Given the description of an element on the screen output the (x, y) to click on. 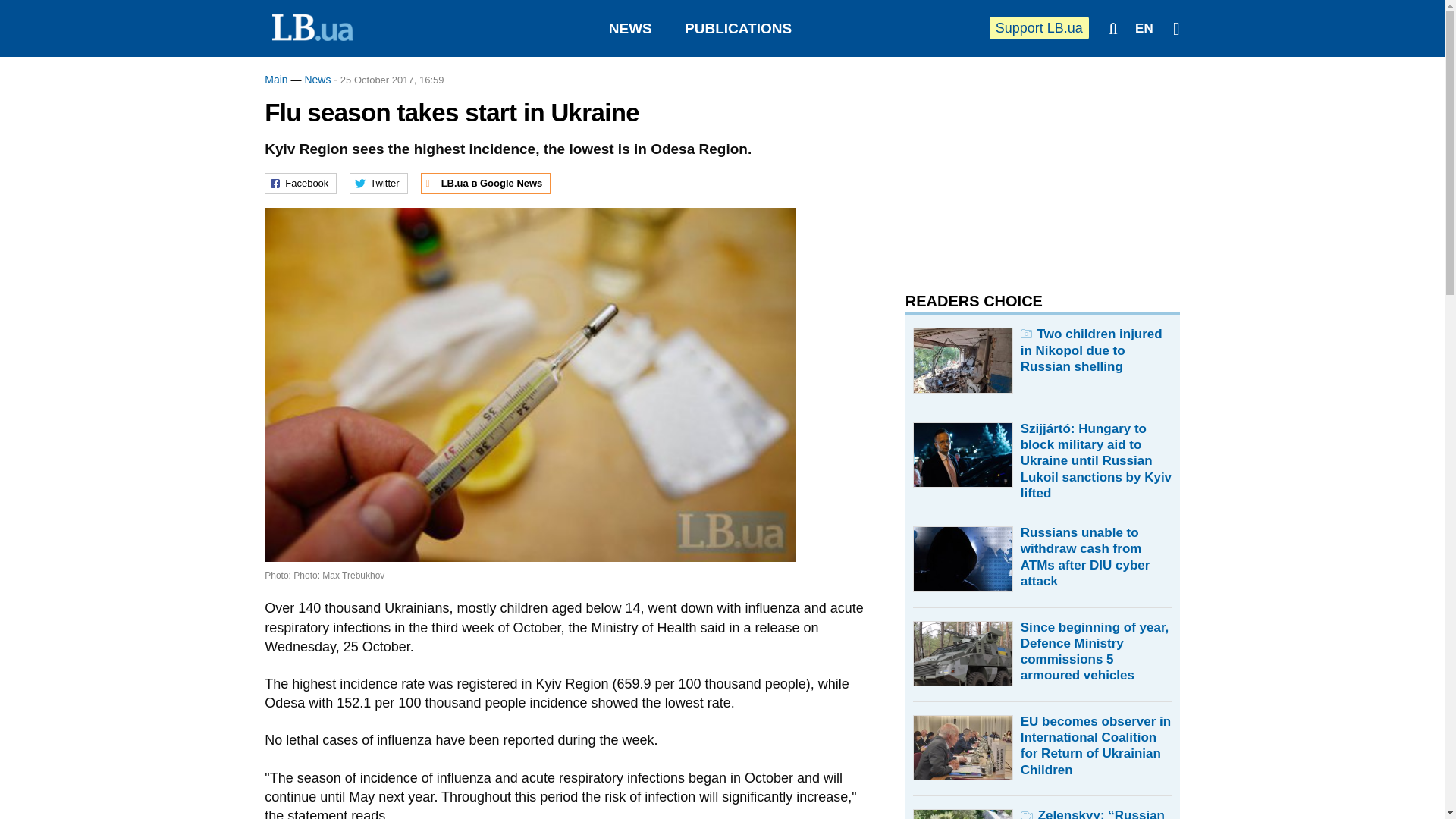
EN (1144, 28)
Support LB.ua (1039, 27)
PUBLICATIONS (738, 28)
News (317, 79)
NEWS (630, 28)
Main (275, 79)
